Given the description of an element on the screen output the (x, y) to click on. 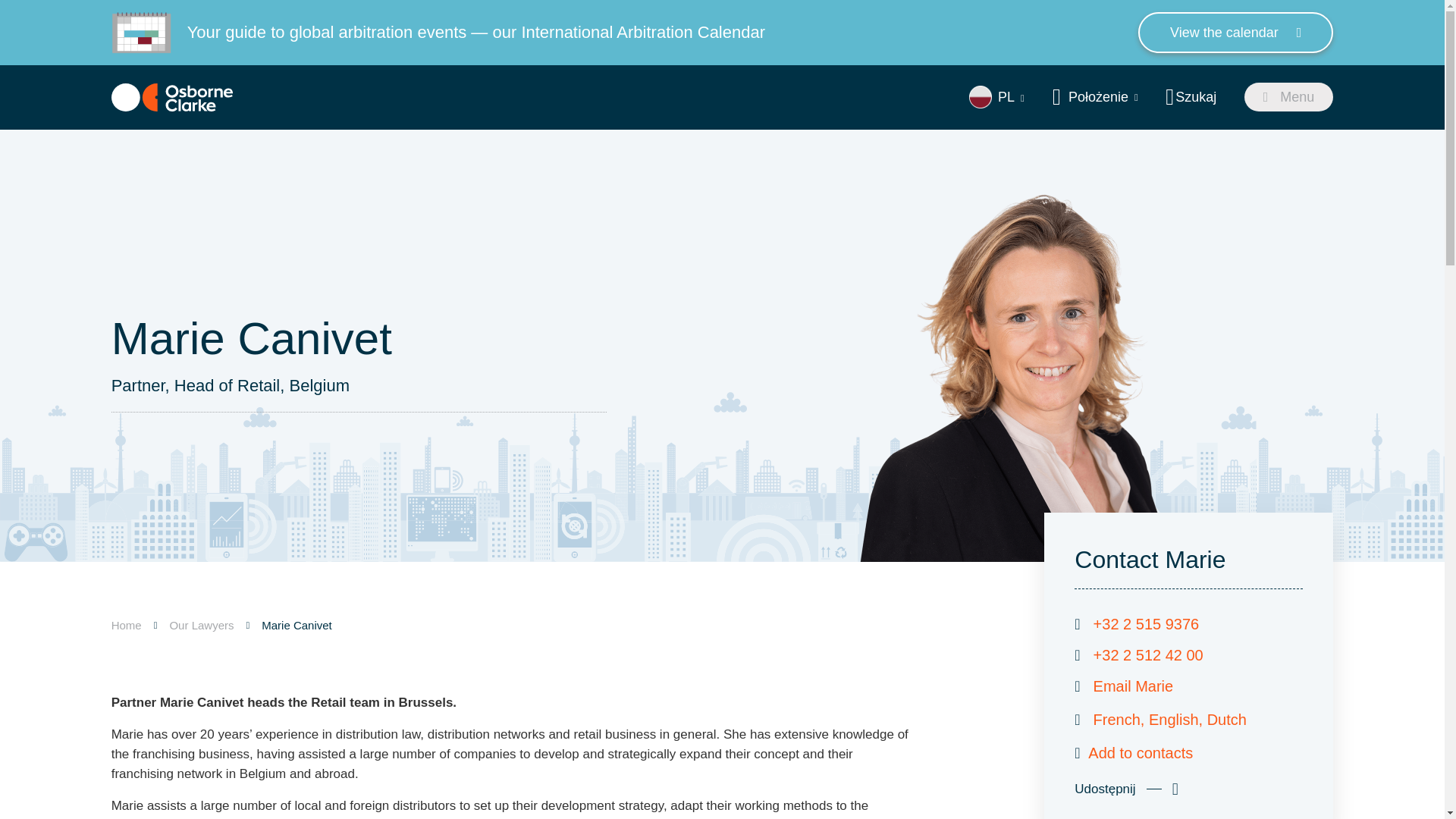
View the calendar (1235, 32)
Osborne Clarke (172, 97)
